Given the description of an element on the screen output the (x, y) to click on. 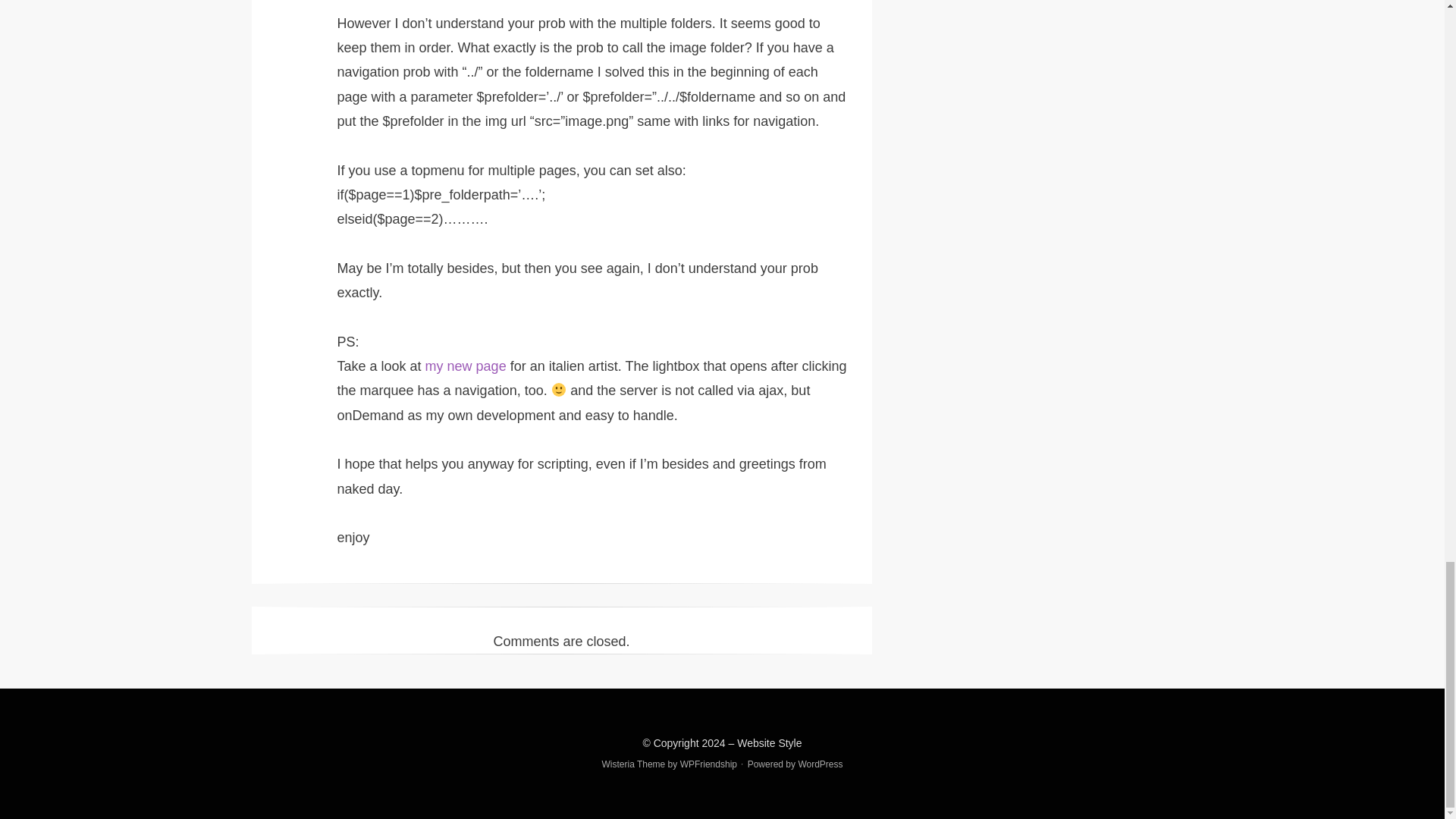
WPFriendship (707, 764)
WPFriendship (707, 764)
my new page (465, 365)
WordPress (820, 764)
WordPress (820, 764)
Website Style (769, 743)
